Given the description of an element on the screen output the (x, y) to click on. 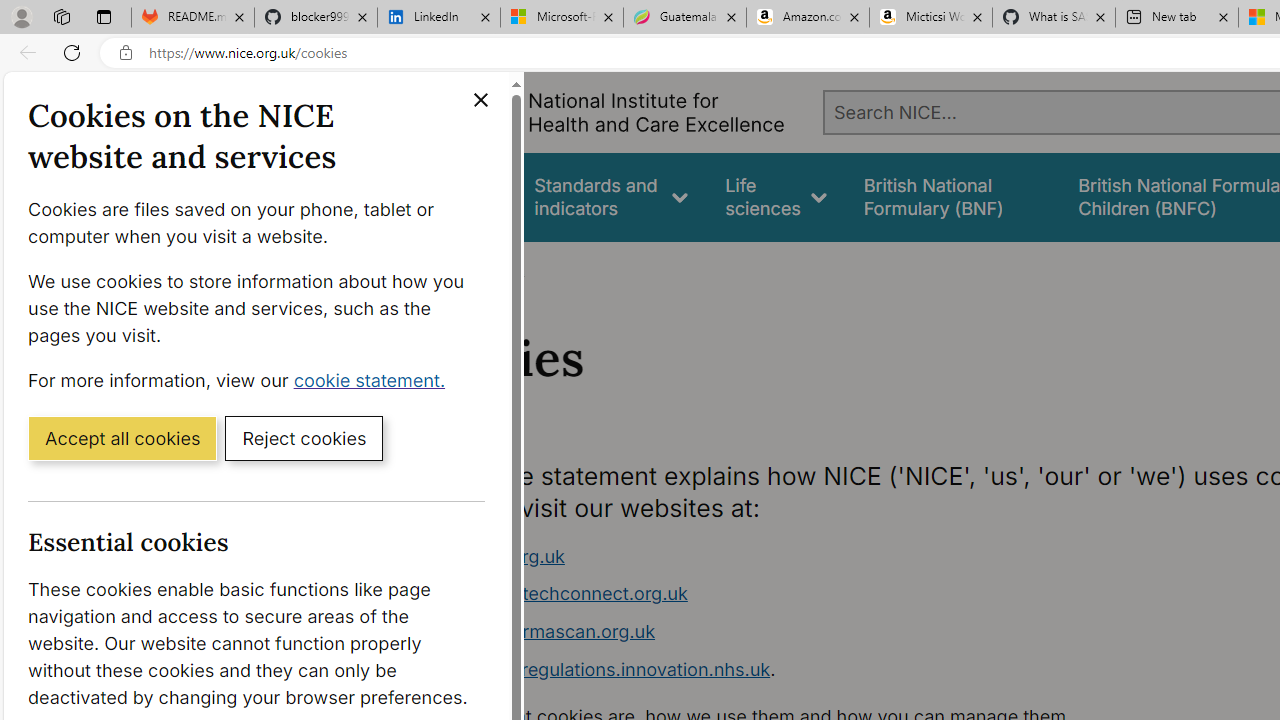
Guidance (458, 196)
false (952, 196)
Life sciences (776, 196)
Life sciences (776, 196)
www.nice.org.uk (492, 556)
Reject cookies (304, 437)
cookie statement. (Opens in a new window) (373, 379)
www.healthtechconnect.org.uk (796, 594)
www.healthtechconnect.org.uk (554, 593)
